Given the description of an element on the screen output the (x, y) to click on. 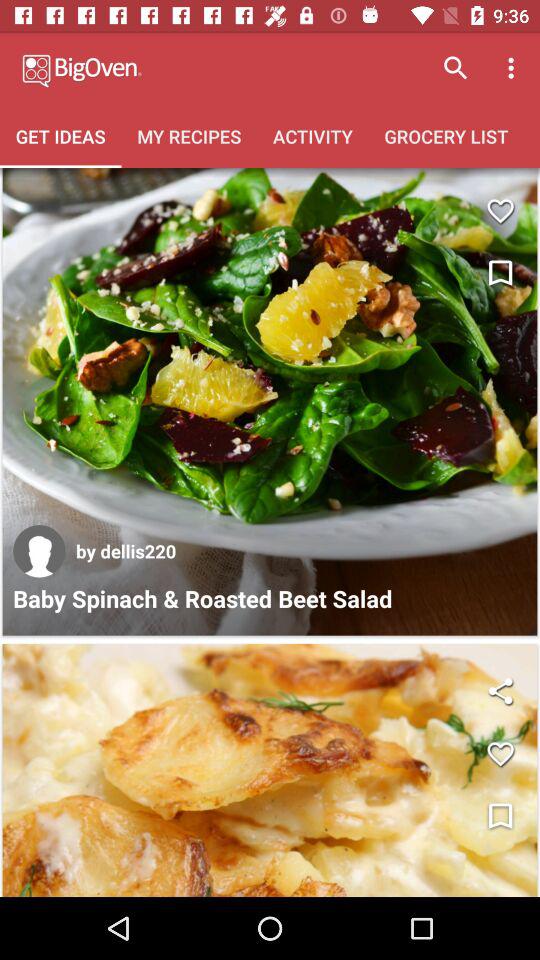
launch icon above grocery list item (513, 67)
